Given the description of an element on the screen output the (x, y) to click on. 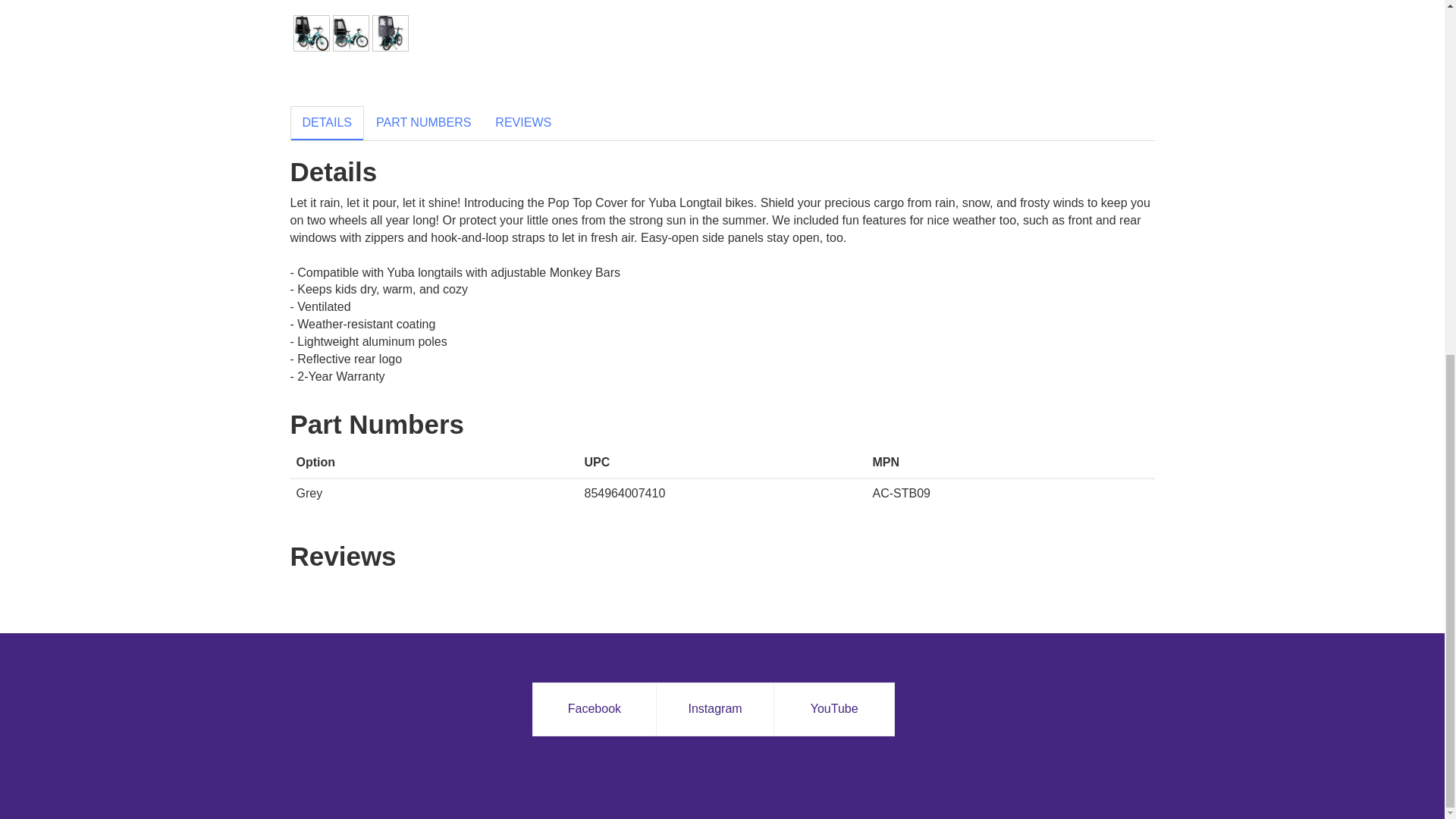
Facebook (594, 709)
Instagram (714, 709)
REVIEWS (523, 123)
YouTube (834, 709)
Color: Grey (311, 32)
DETAILS (326, 123)
PART NUMBERS (423, 123)
